Given the description of an element on the screen output the (x, y) to click on. 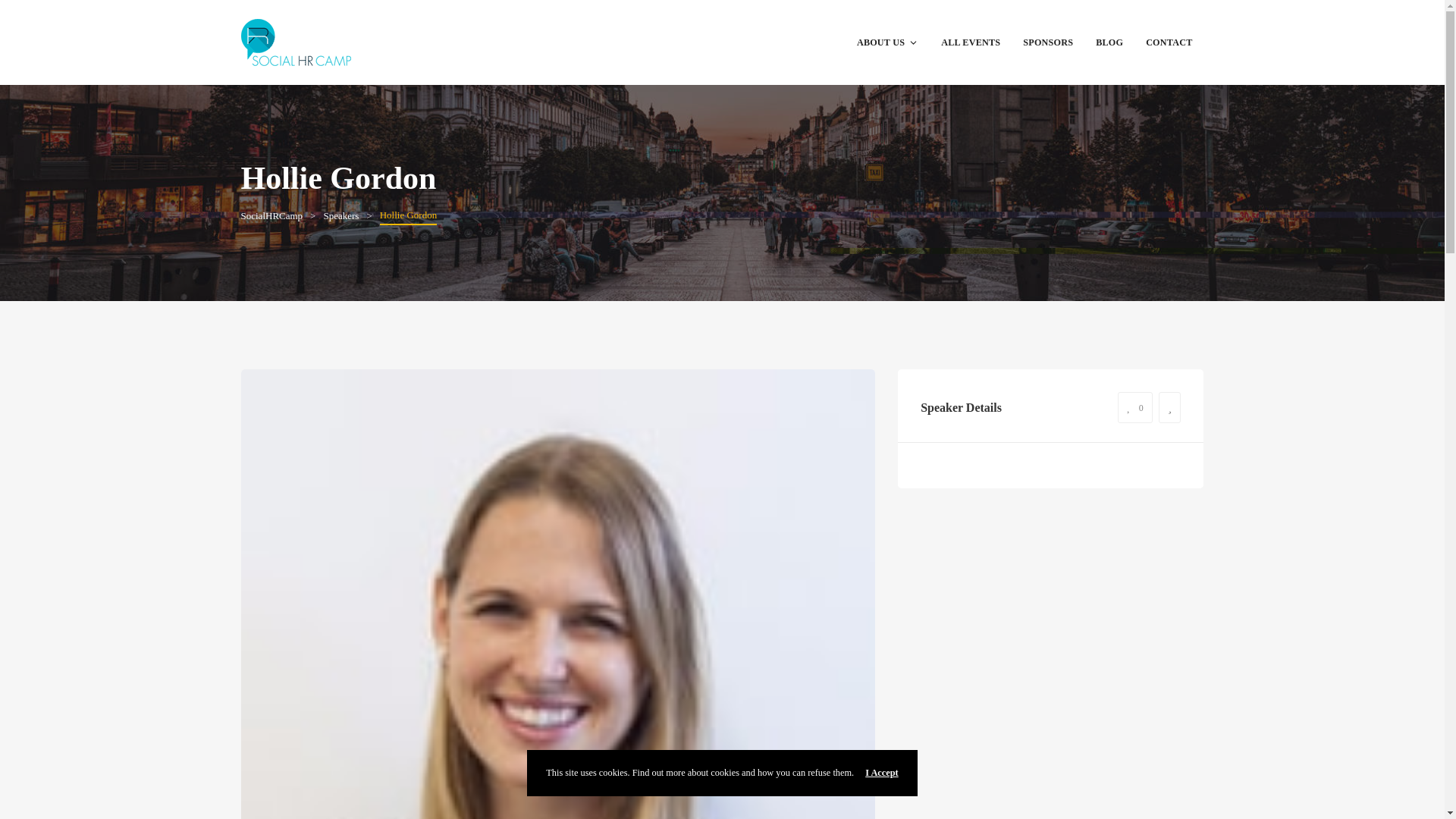
SPONSORS (1047, 42)
Go to Speakers. (340, 215)
ABOUT US (887, 42)
0 (1135, 407)
CONTACT (1169, 42)
Speakers (340, 215)
ALL EVENTS (970, 42)
SocialHRCamp (271, 215)
Go to SocialHRCamp. (271, 215)
BLOG (1109, 42)
